Given the description of an element on the screen output the (x, y) to click on. 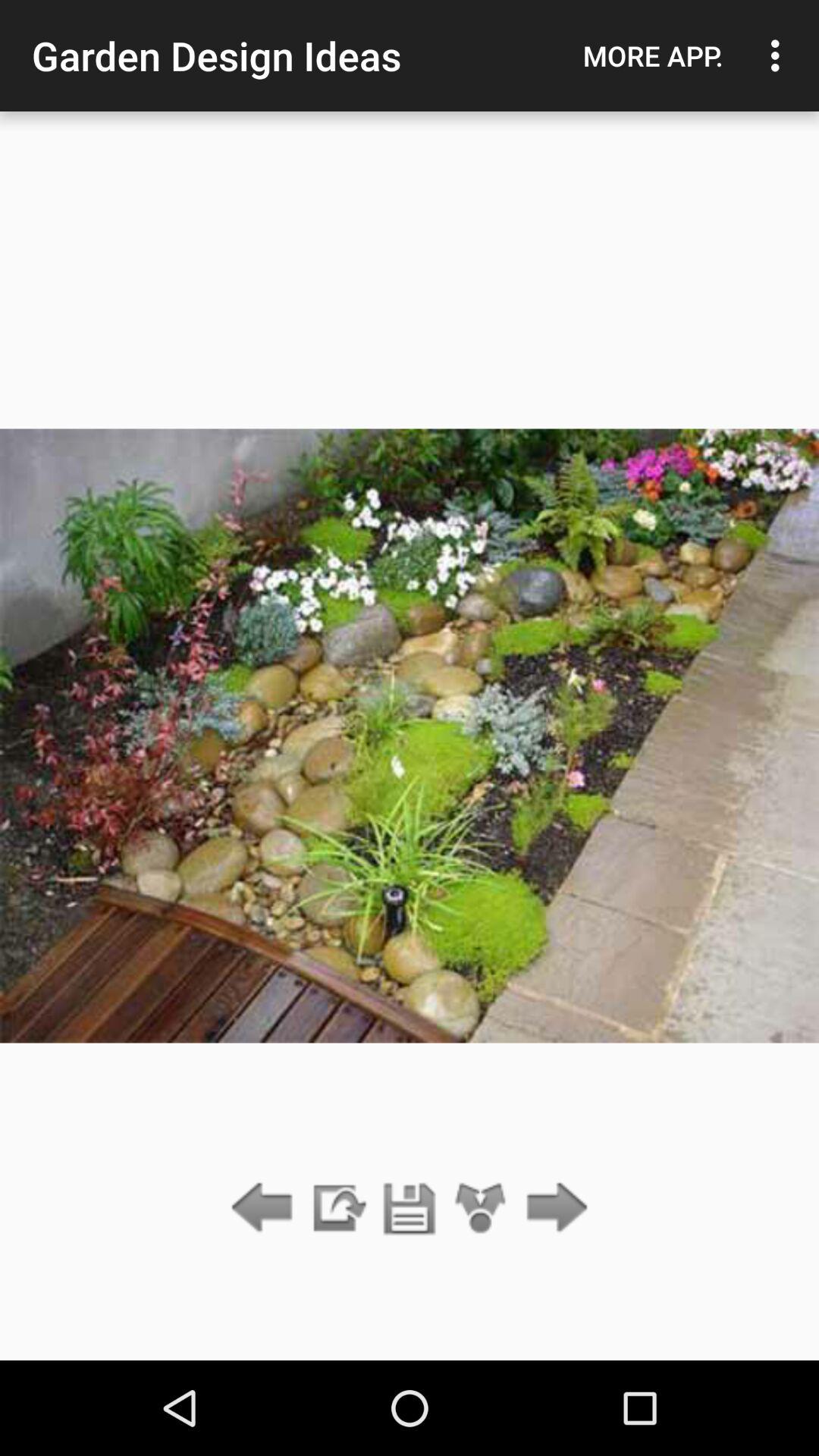
turn off the item next to the garden design ideas item (653, 55)
